Given the description of an element on the screen output the (x, y) to click on. 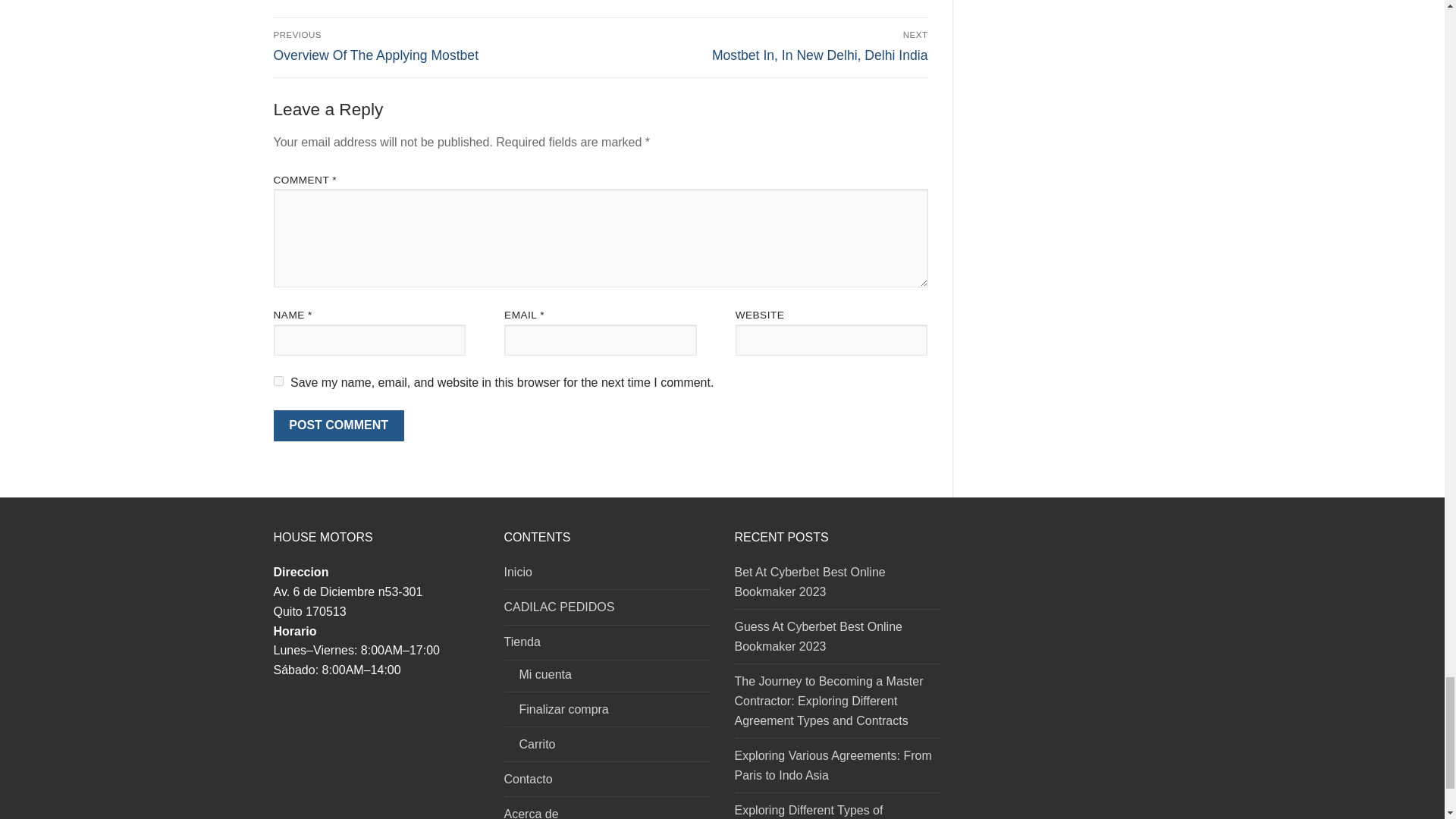
Post Comment (767, 46)
yes (338, 426)
Post Comment (277, 380)
